Given the description of an element on the screen output the (x, y) to click on. 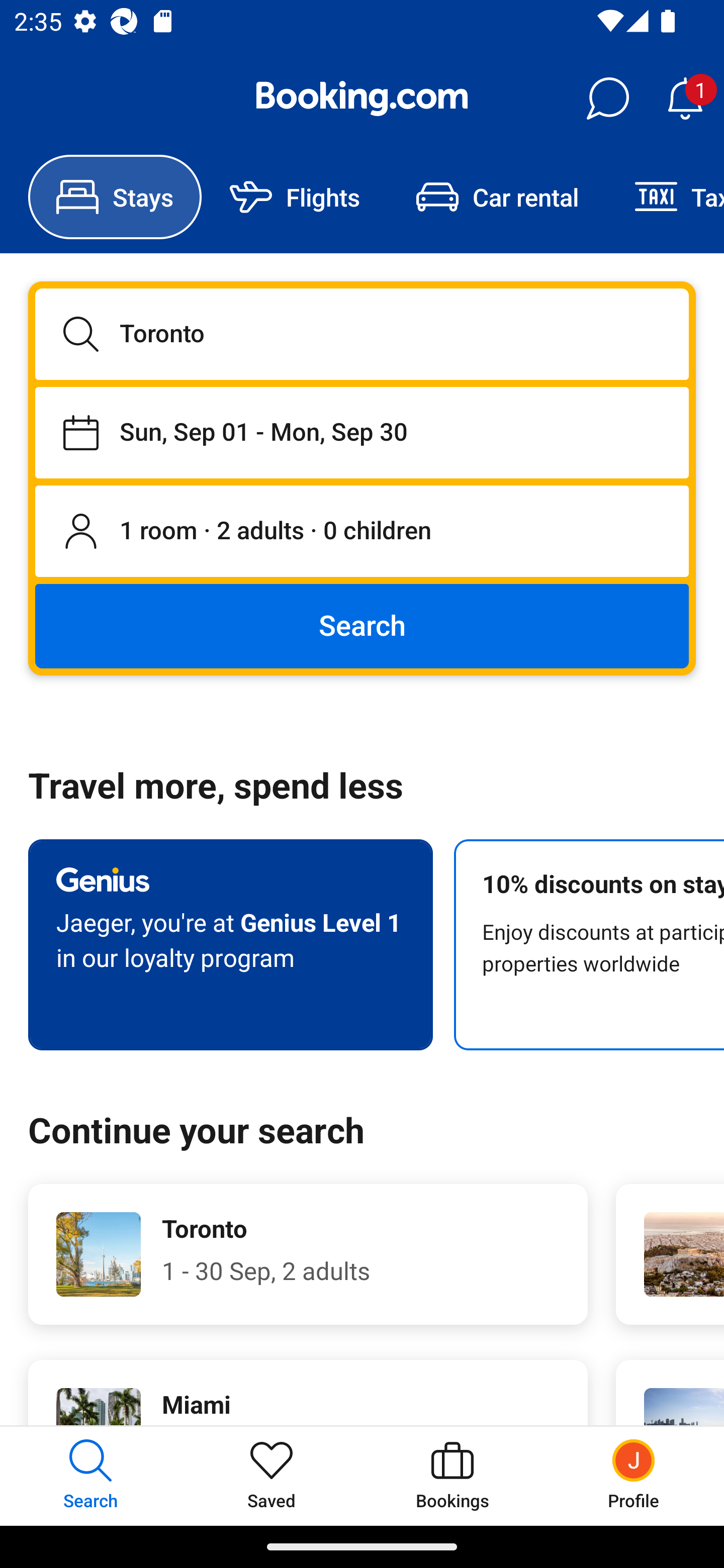
Messages (607, 98)
Notifications (685, 98)
Stays (114, 197)
Flights (294, 197)
Car rental (497, 197)
Taxi (665, 197)
Toronto (361, 333)
Staying from Sun, Sep 01 until Mon, Sep 30 (361, 432)
1 room, 2 adults, 0 children (361, 531)
Search (361, 625)
Toronto 1 - 30 Sep, 2 adults (307, 1253)
Saved (271, 1475)
Bookings (452, 1475)
Profile (633, 1475)
